Given the description of an element on the screen output the (x, y) to click on. 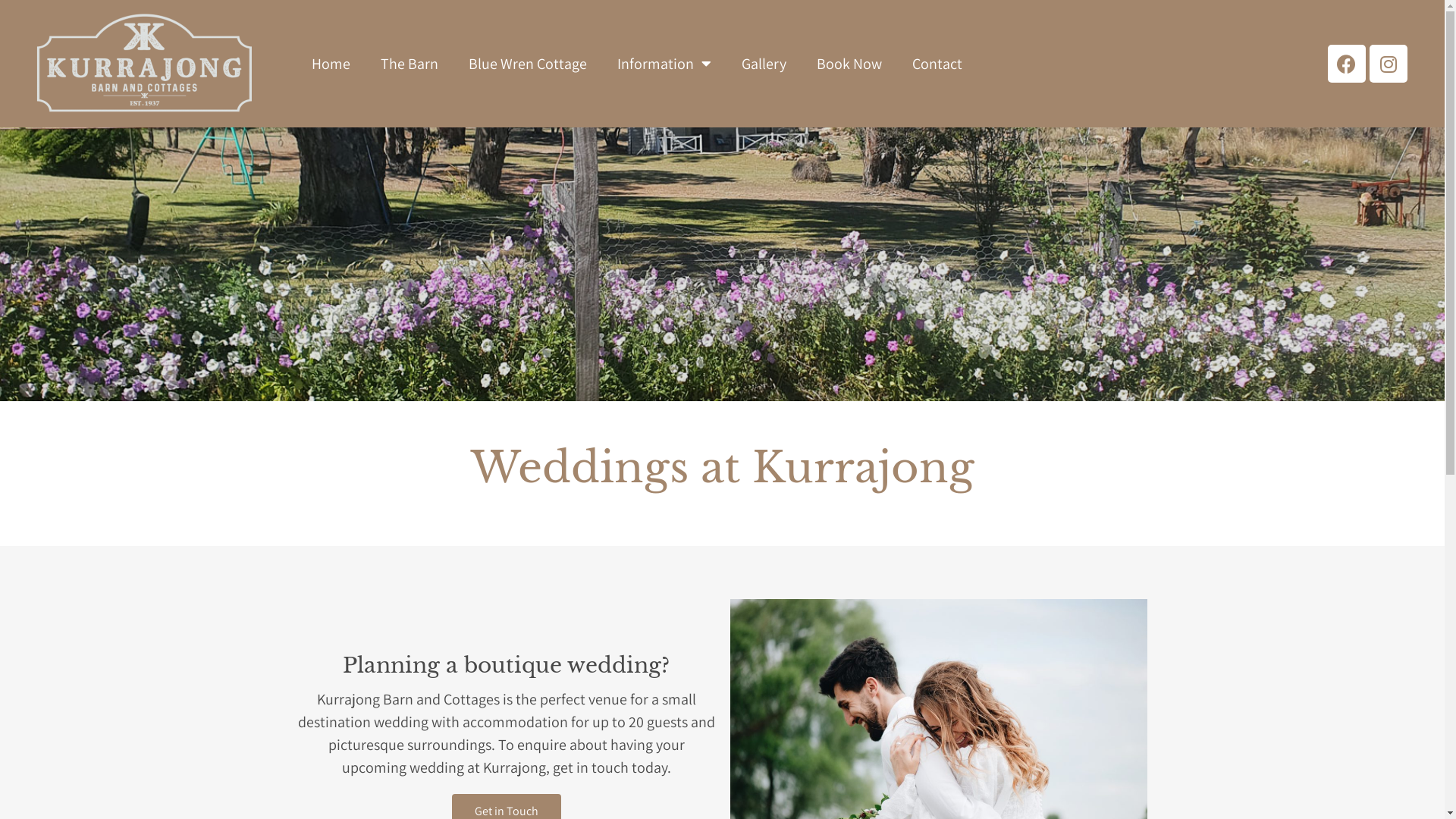
Gallery Element type: text (763, 63)
Contact Element type: text (937, 63)
Home Element type: text (330, 63)
Blue Wren Cottage Element type: text (527, 63)
Planning a boutique wedding? Element type: text (505, 665)
logo-white-outline Element type: hover (143, 63)
Book Now Element type: text (849, 63)
Information Element type: text (664, 63)
The Barn Element type: text (409, 63)
